Given the description of an element on the screen output the (x, y) to click on. 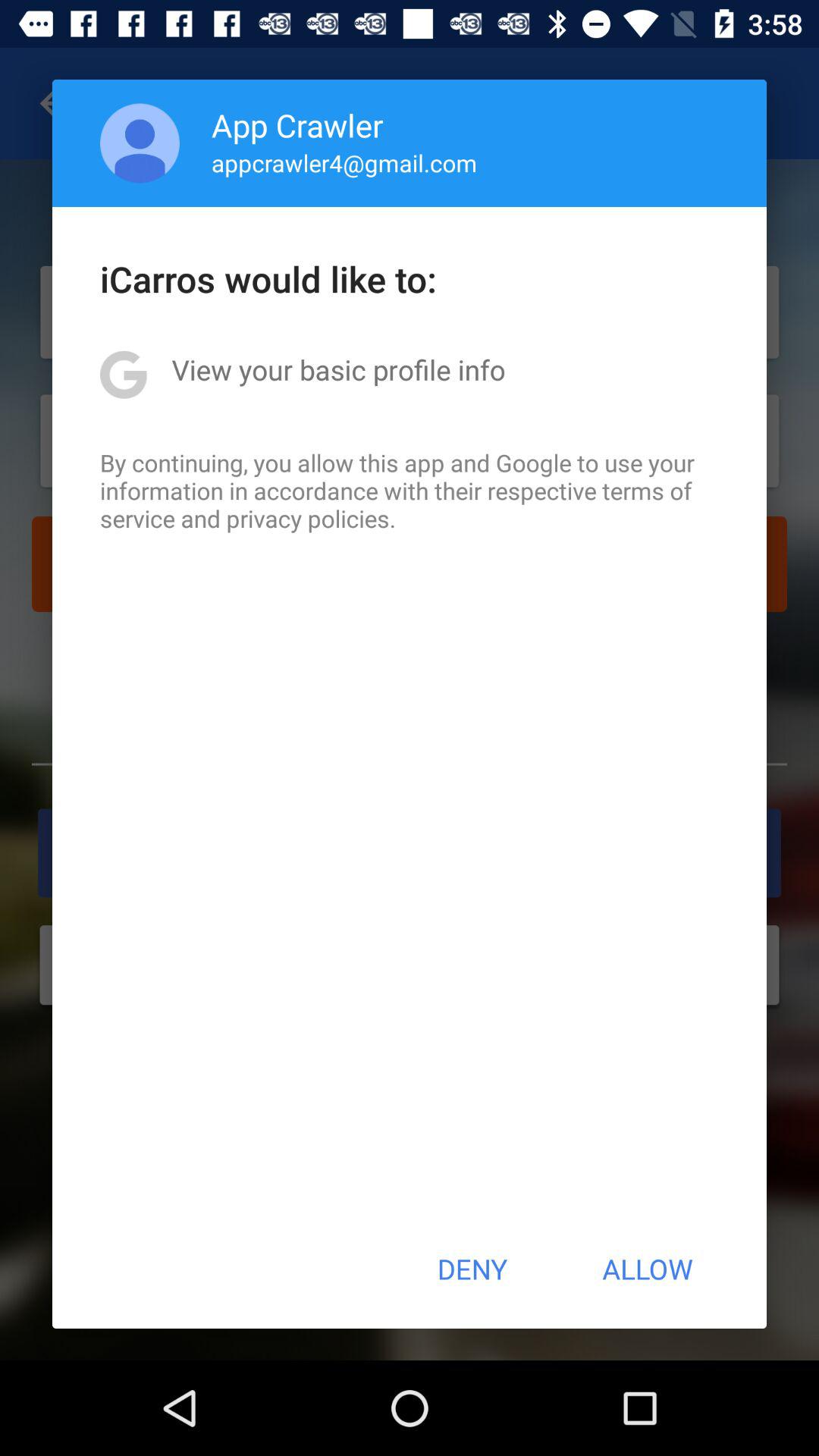
click the icon above the icarros would like icon (344, 162)
